Given the description of an element on the screen output the (x, y) to click on. 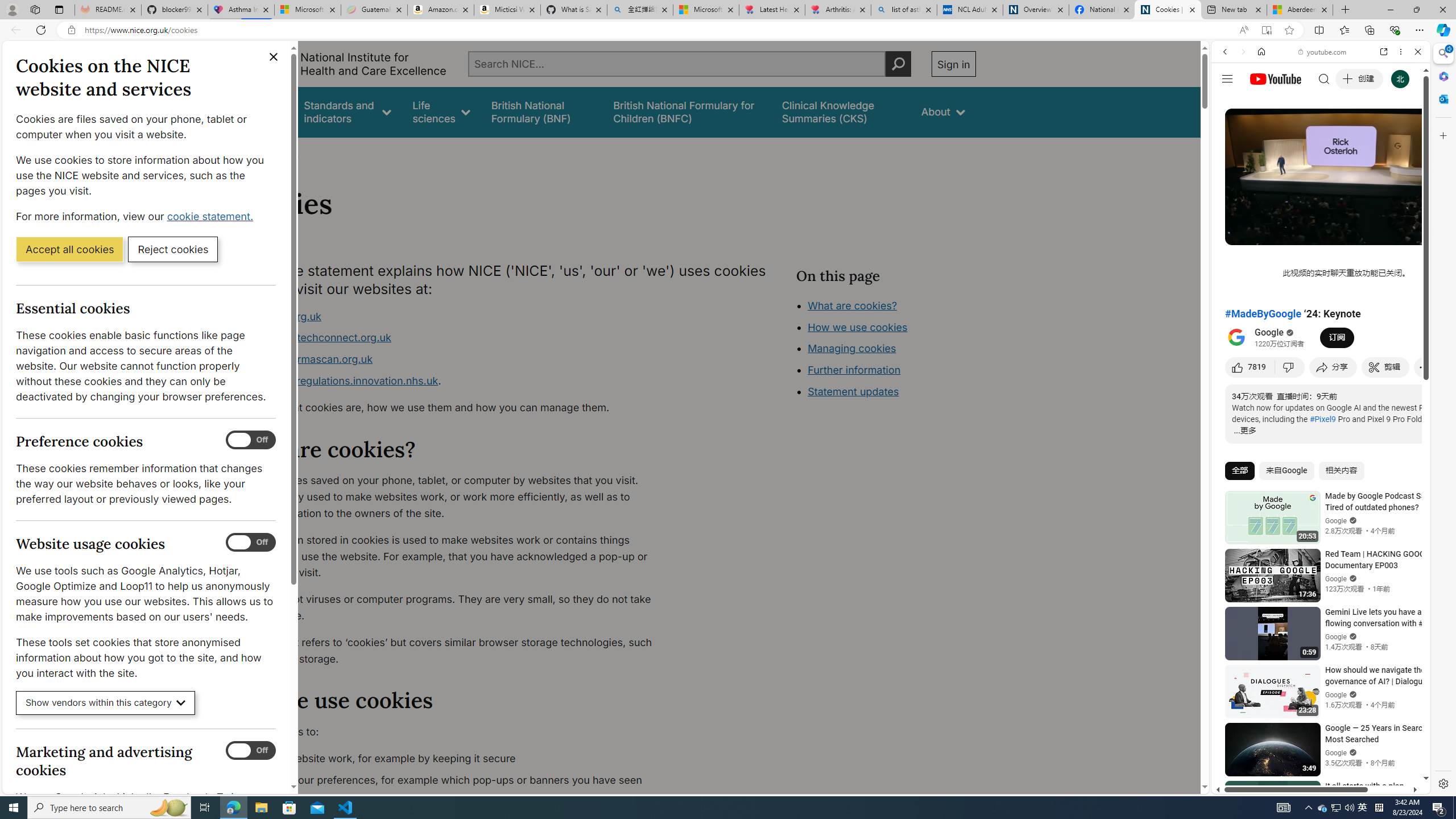
Accept all cookies (69, 248)
Cookies | About | NICE (1167, 9)
www.ukpharmascan.org.uk (452, 359)
About (283, 152)
Life sciences (440, 111)
